Given the description of an element on the screen output the (x, y) to click on. 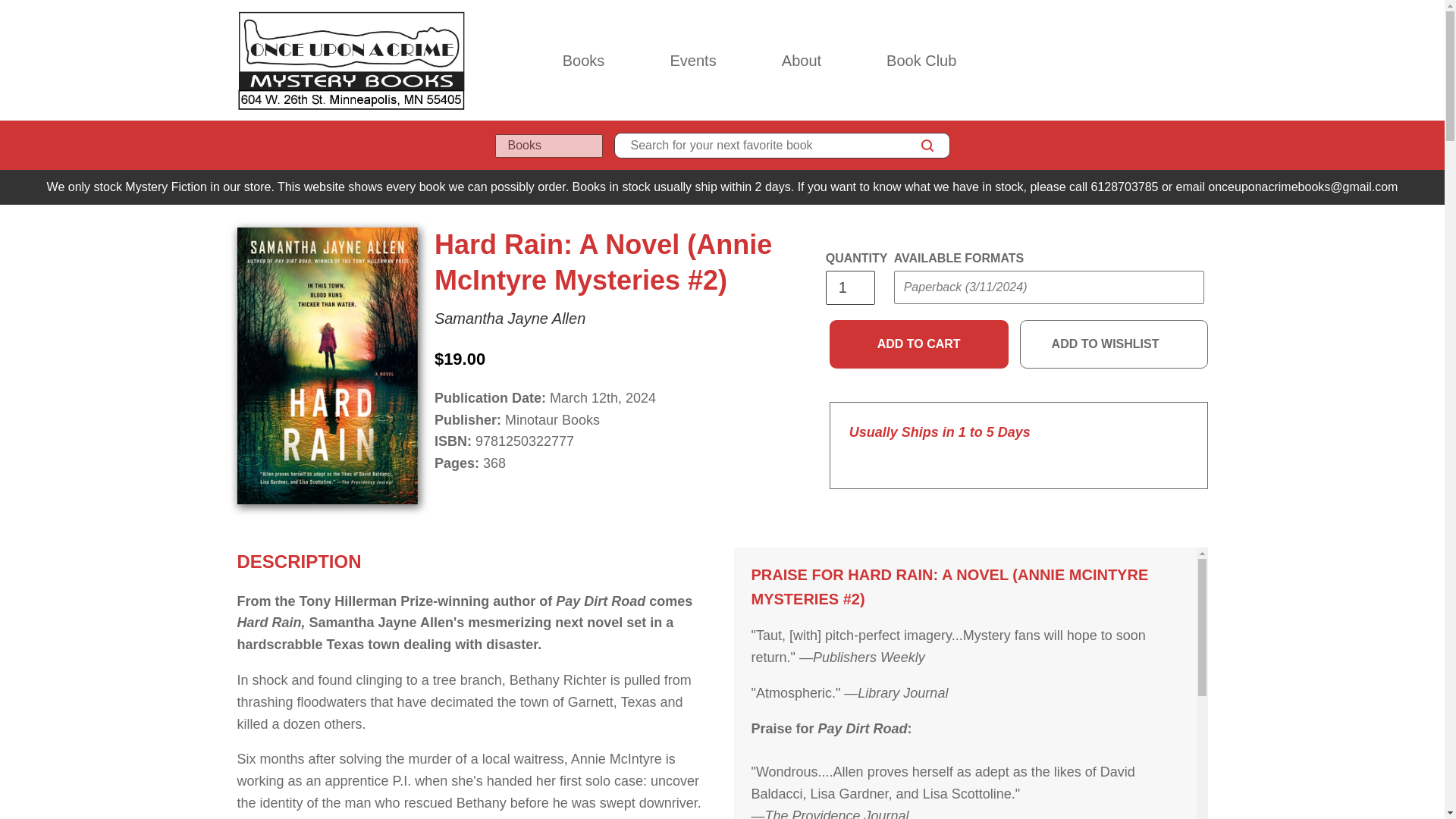
Submit (922, 317)
Events (692, 60)
Cart (1201, 60)
Add to cart (919, 344)
SEARCH (926, 145)
Wishlists (1168, 60)
Wishlist (1168, 60)
Log in (1134, 60)
Books (583, 60)
Book Club (921, 60)
ADD TO WISHLIST (1114, 344)
Add to cart (919, 344)
Samantha Jayne Allen (509, 318)
Log in (1134, 60)
